Given the description of an element on the screen output the (x, y) to click on. 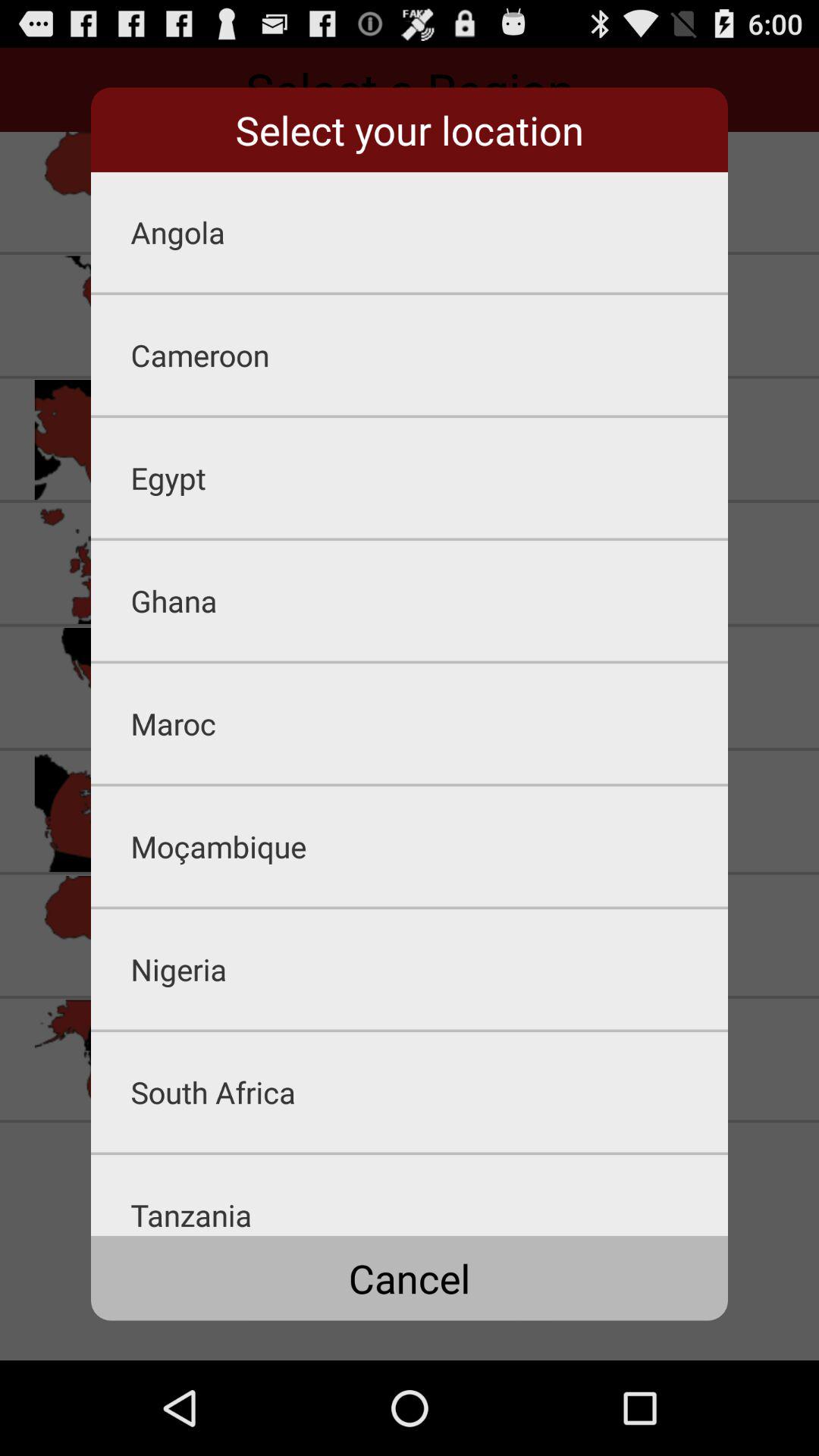
swipe until the maroc item (429, 723)
